Given the description of an element on the screen output the (x, y) to click on. 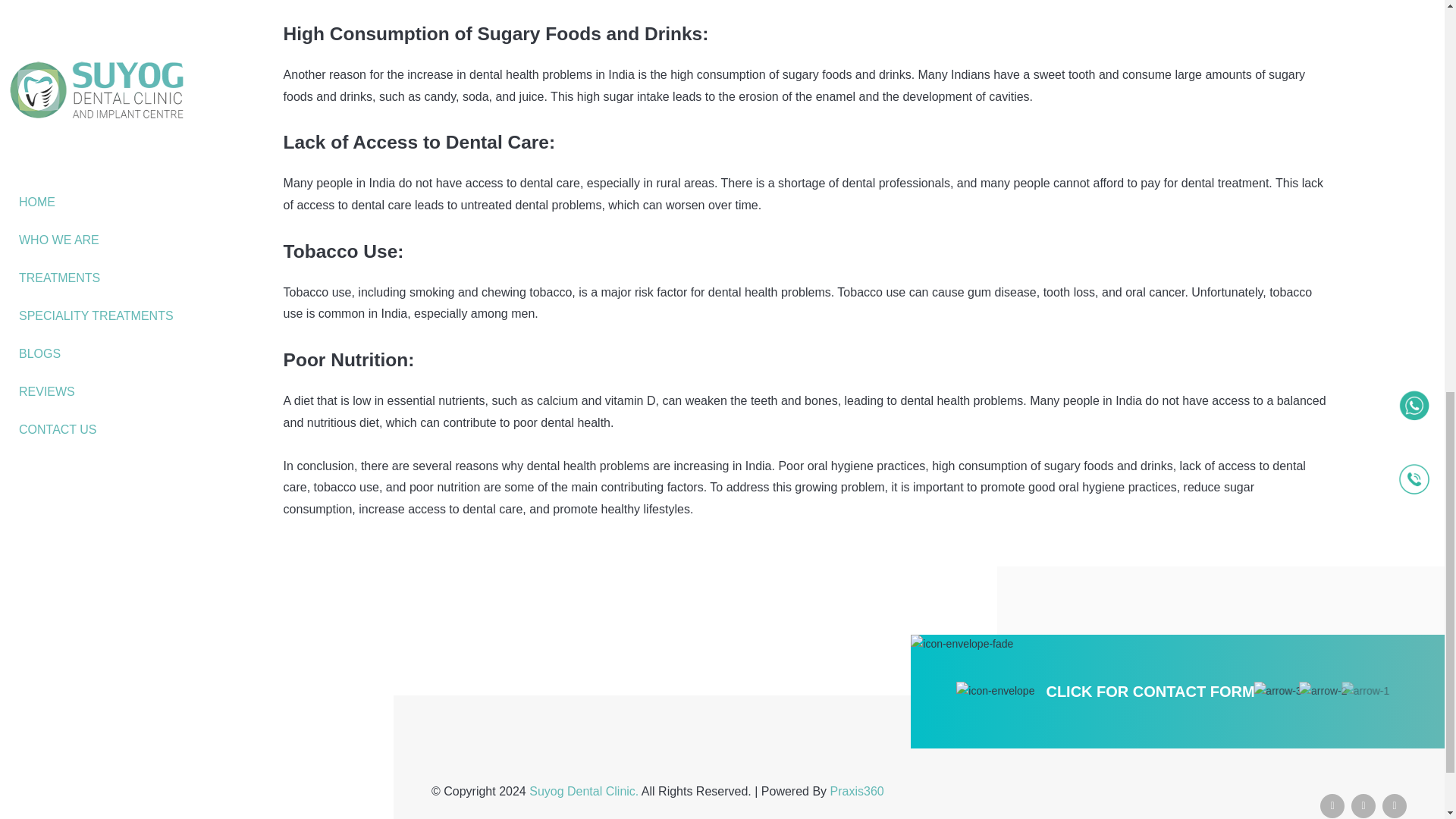
Praxis360 (856, 790)
CLICK FOR CONTACT FORM (1149, 691)
Suyog Dental Clinic. (585, 790)
